Given the description of an element on the screen output the (x, y) to click on. 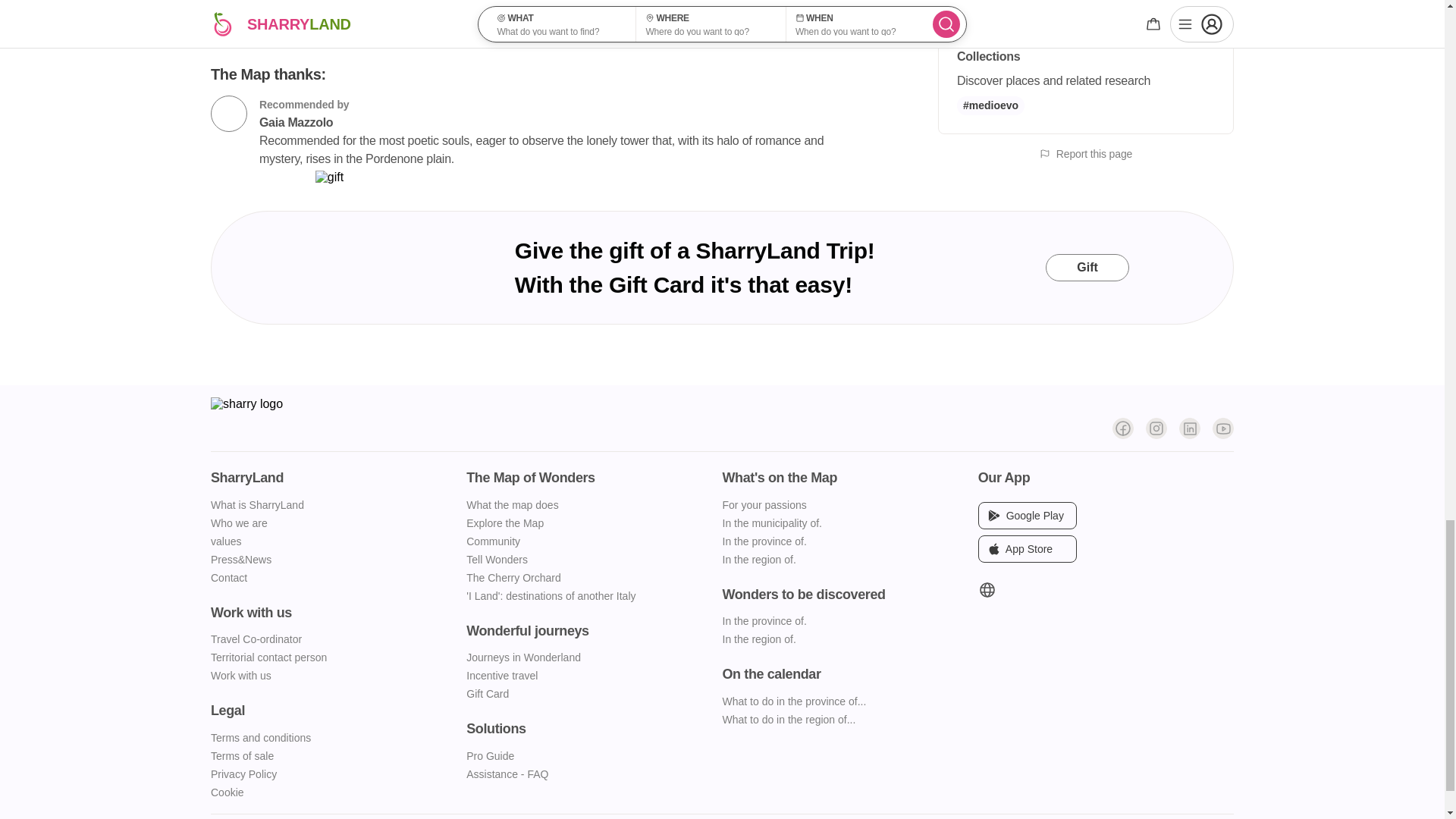
Create Post (537, 4)
